Given the description of an element on the screen output the (x, y) to click on. 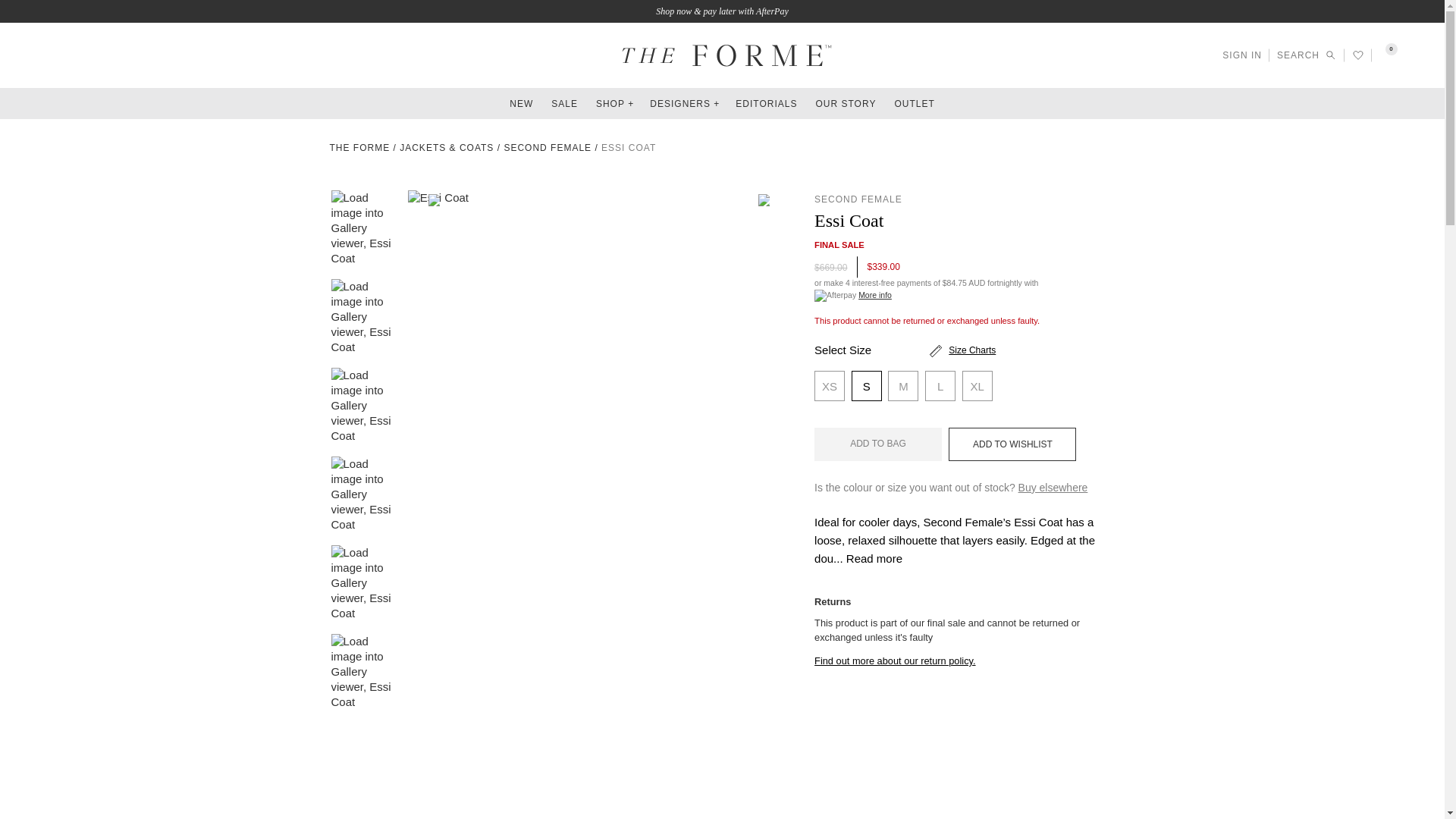
S (866, 386)
XS (828, 386)
L (939, 386)
0 (1384, 55)
Home (359, 147)
SIGN IN (1242, 54)
XL (977, 386)
SEARCH (1306, 55)
M (903, 386)
